Given the description of an element on the screen output the (x, y) to click on. 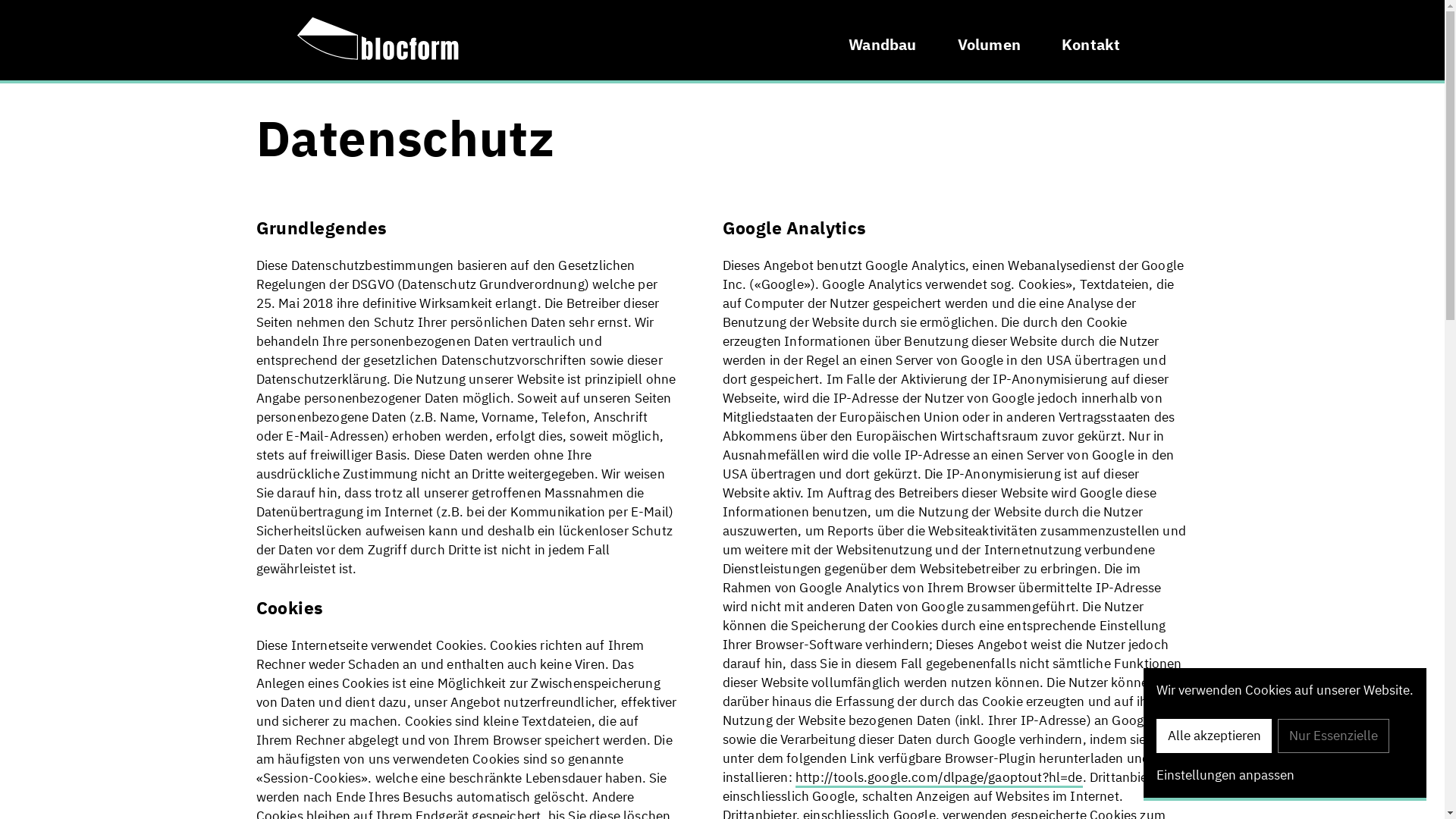
Wandbau Element type: text (882, 42)
Kontakt Element type: text (1090, 42)
Volumen Element type: text (988, 42)
http://tools.google.com/dlpage/gaoptout?hl=de Element type: text (938, 777)
